Given the description of an element on the screen output the (x, y) to click on. 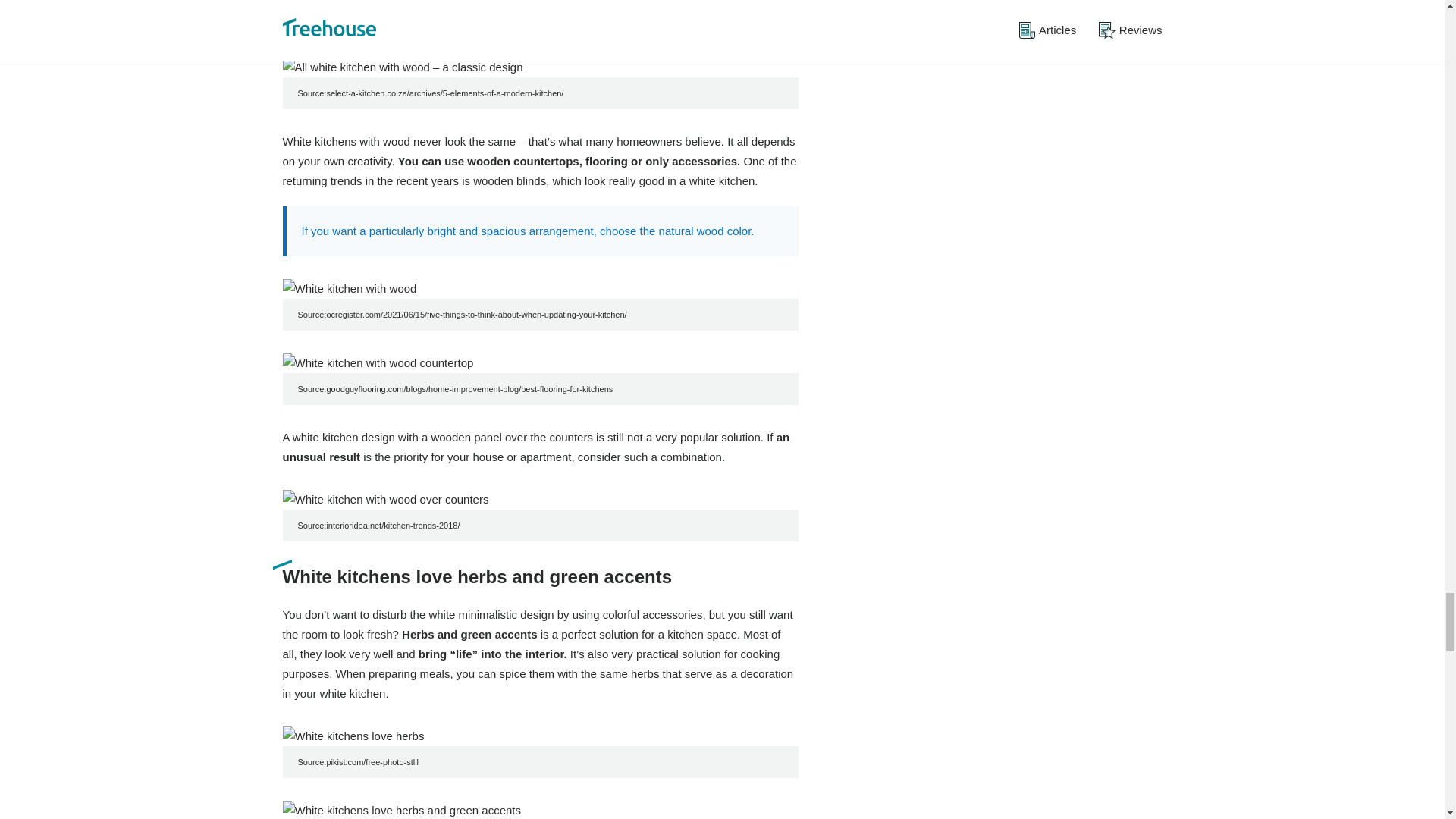
White kitchen with wood countertop (539, 362)
White kitchens love herbs (539, 736)
White kitchen with wood (539, 288)
White kitchen with wood over counters (539, 499)
